Given the description of an element on the screen output the (x, y) to click on. 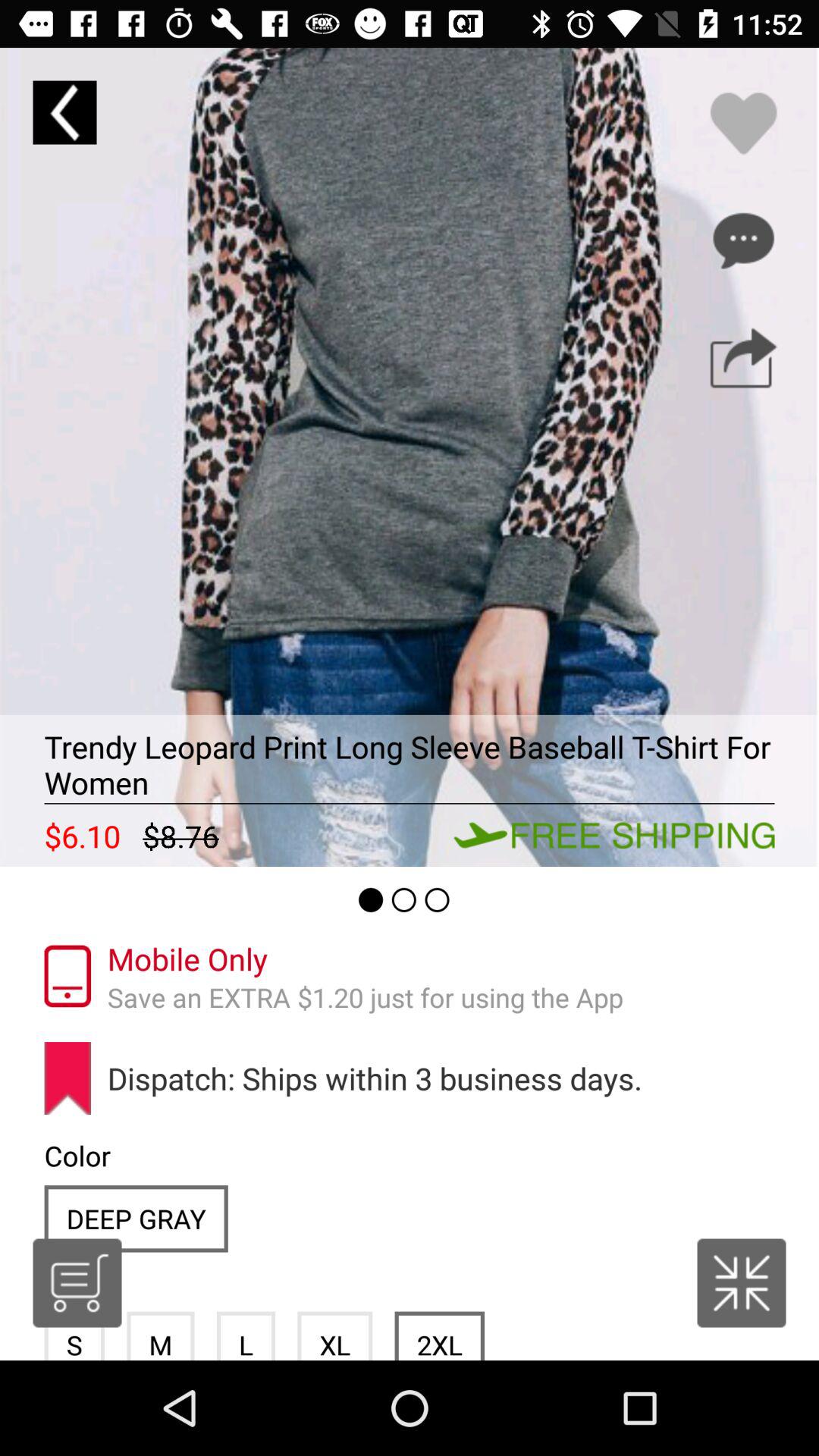
swipe until m icon (160, 1335)
